Given the description of an element on the screen output the (x, y) to click on. 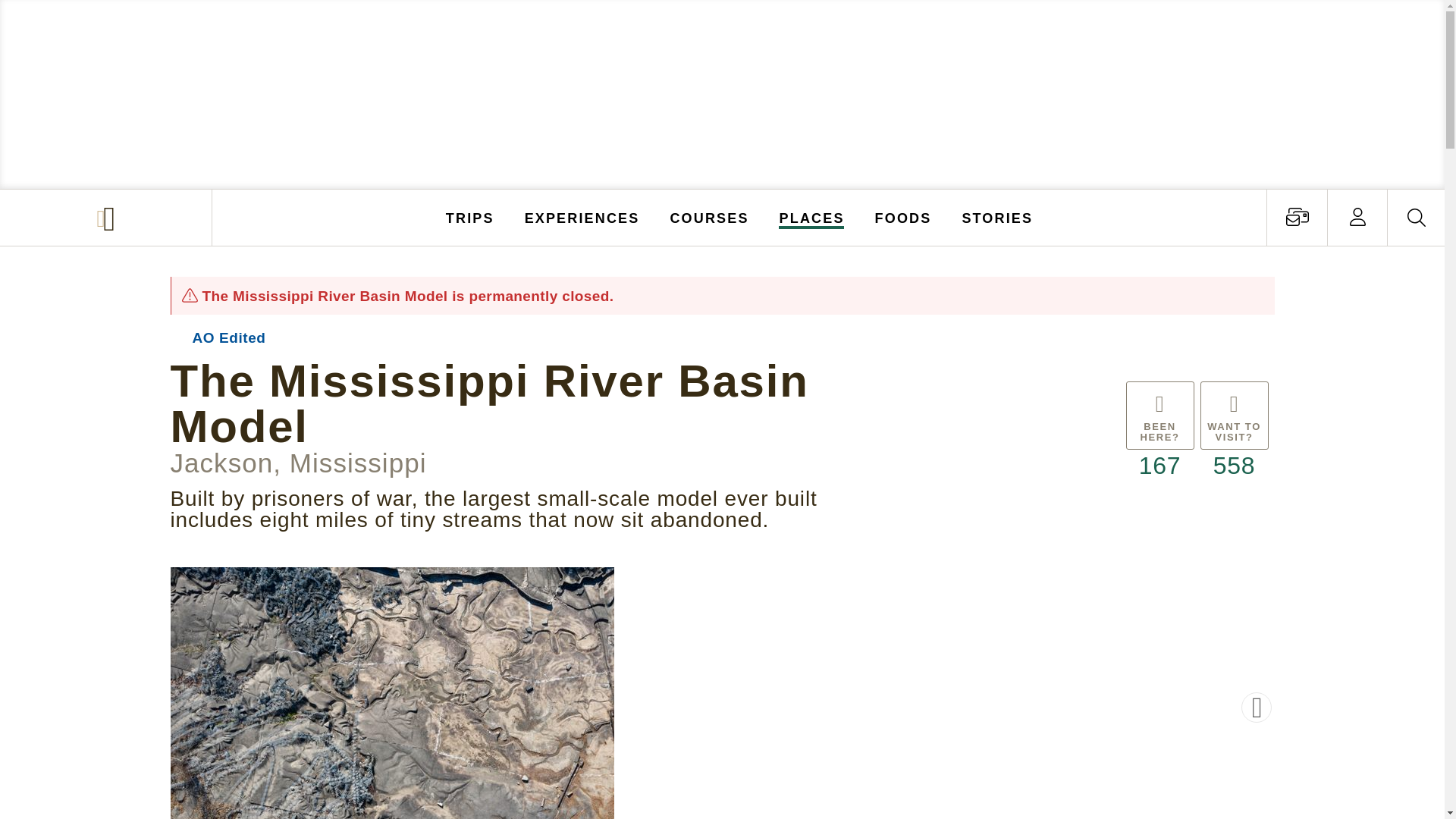
PLACES (812, 217)
EXPERIENCES (582, 217)
COURSES (707, 217)
TRIPS (469, 217)
